Given the description of an element on the screen output the (x, y) to click on. 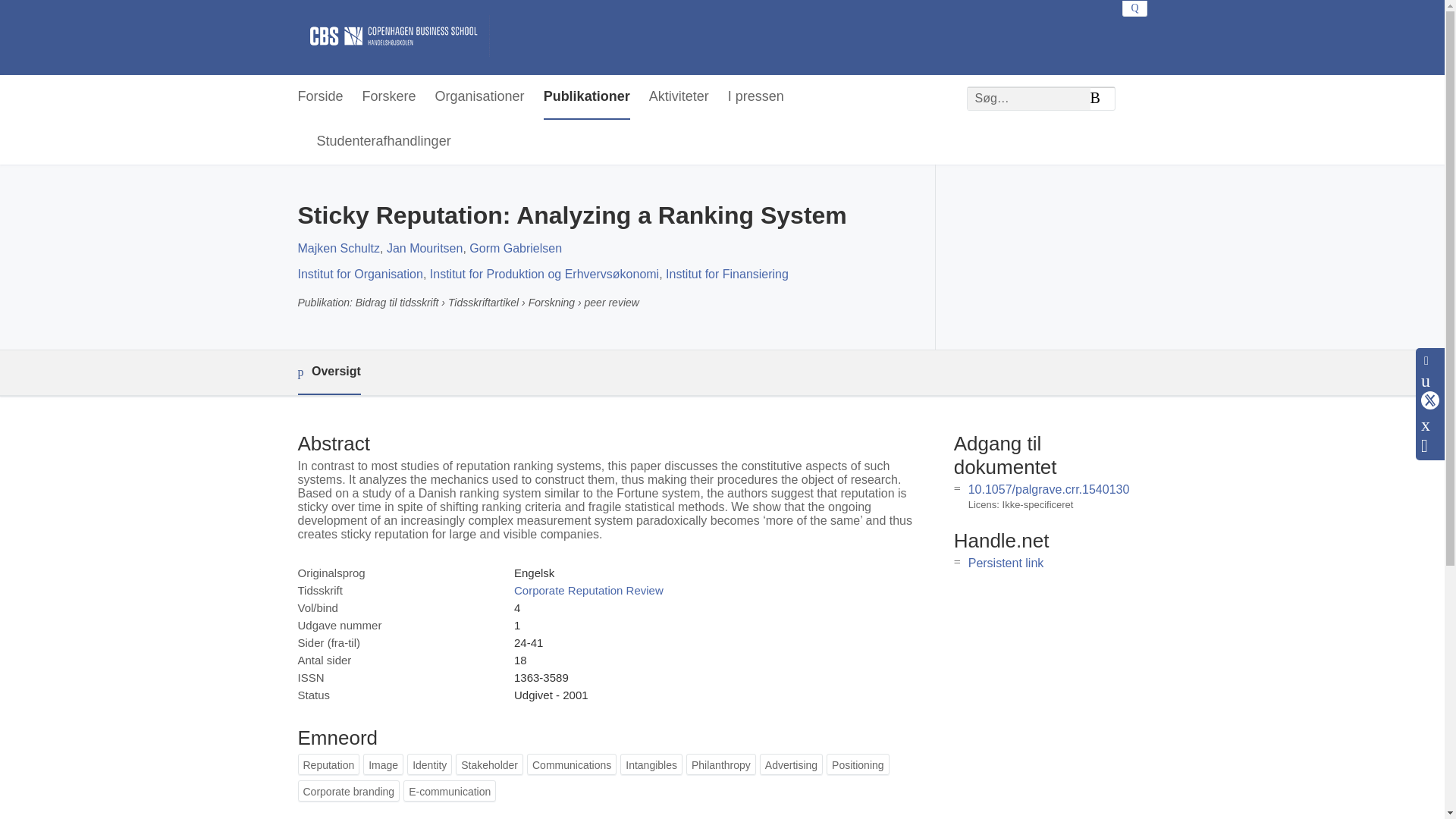
Aktiviteter (679, 97)
Oversigt (328, 372)
Gorm Gabrielsen (515, 247)
Jan Mouritsen (425, 247)
Forskere (389, 97)
Studenterafhandlinger (384, 141)
CBS Forskningsportal Forside (393, 37)
Forside (319, 97)
Organisationer (479, 97)
